Given the description of an element on the screen output the (x, y) to click on. 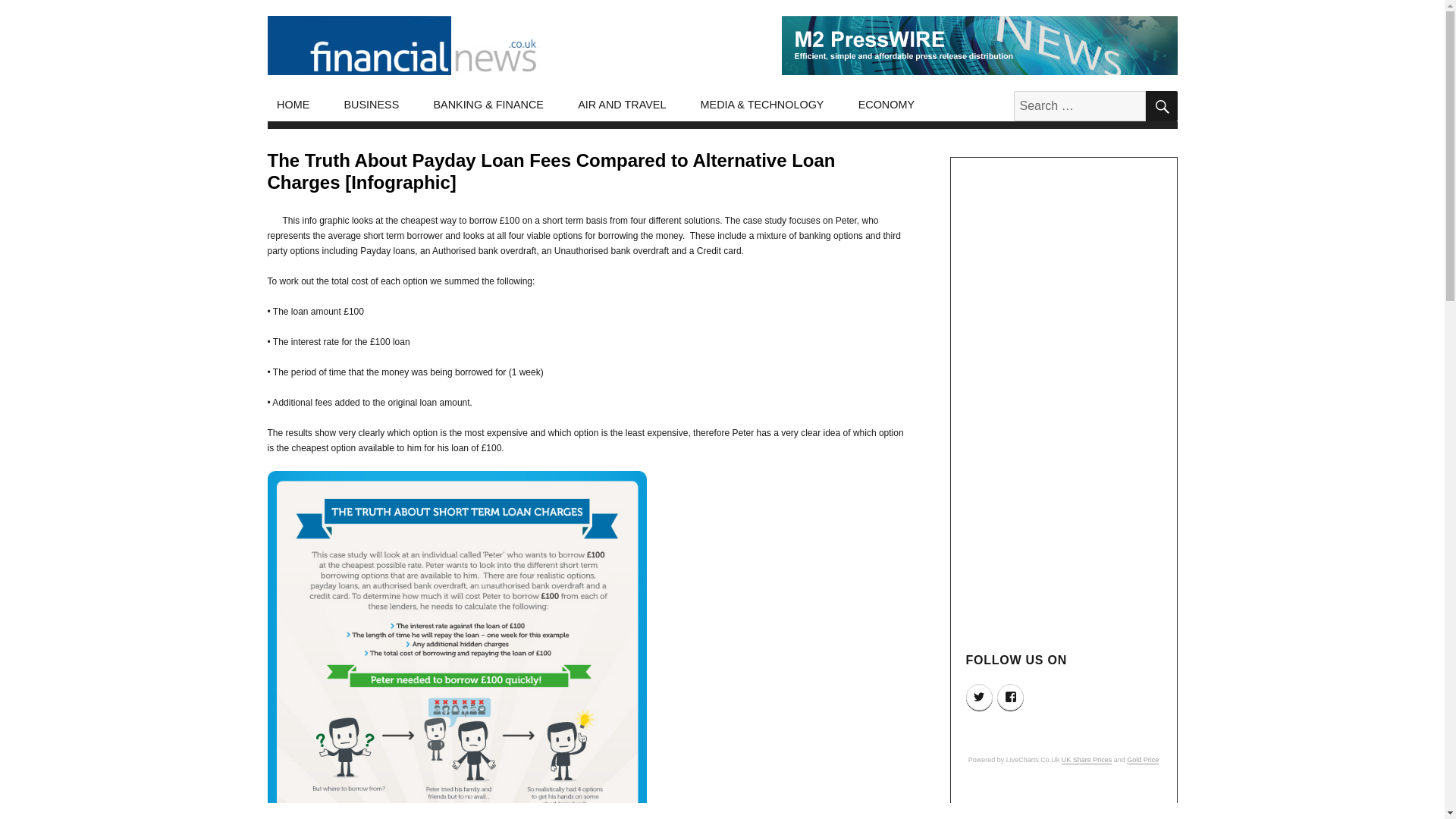
SEARCH (1160, 105)
AIR AND TRAVEL (622, 104)
FACEBOOK (1010, 696)
TWITTER (979, 696)
ECONOMY (886, 104)
BUSINESS (371, 104)
Gold Price (1142, 759)
UK Share Prices (1086, 759)
HOME (292, 104)
Advertisement (1065, 804)
